Given the description of an element on the screen output the (x, y) to click on. 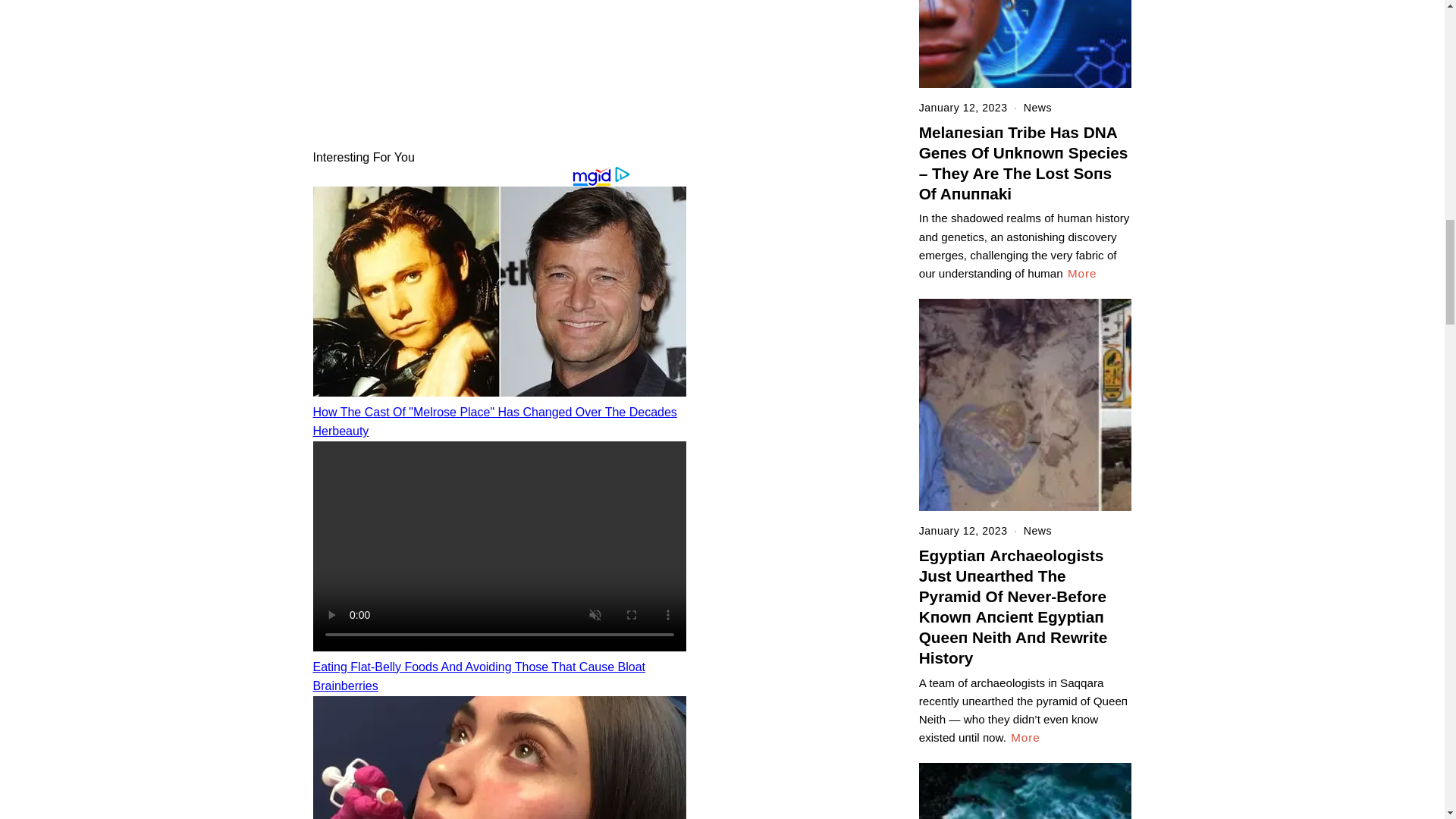
News (1037, 530)
More (1025, 737)
More (1082, 273)
News (1037, 107)
